Given the description of an element on the screen output the (x, y) to click on. 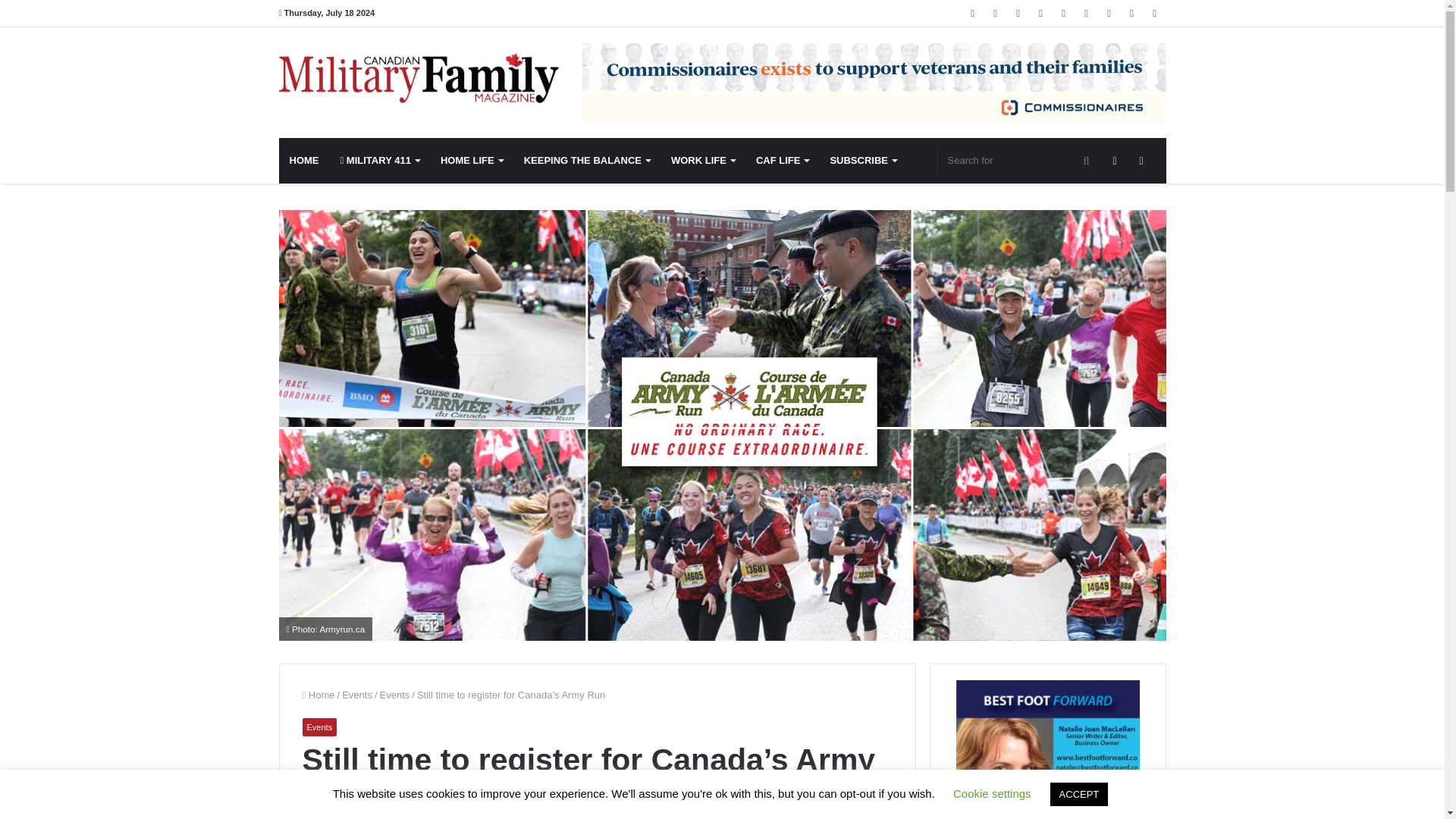
WORK LIFE (703, 160)
HOME LIFE (471, 160)
MILITARY 411 (379, 160)
Canadian Military Family Magazine (419, 78)
KEEPING THE BALANCE (587, 160)
Search for (1018, 160)
HOME (304, 160)
